Given the description of an element on the screen output the (x, y) to click on. 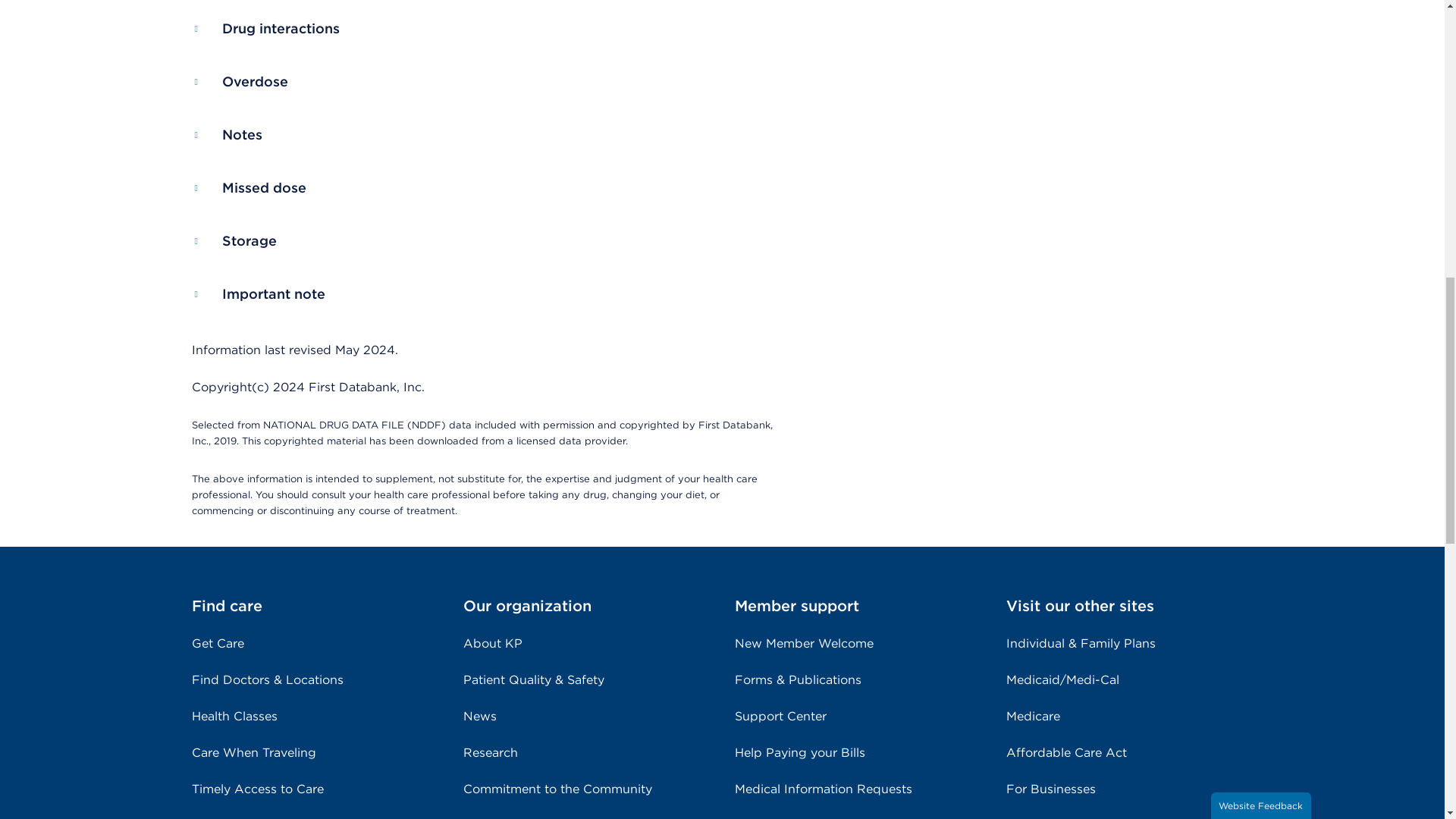
Opens in a new window, external (487, 716)
Opens in a new window, external (565, 789)
Opens in a new window, external (498, 752)
Opens in a new window, external (500, 643)
